Given the description of an element on the screen output the (x, y) to click on. 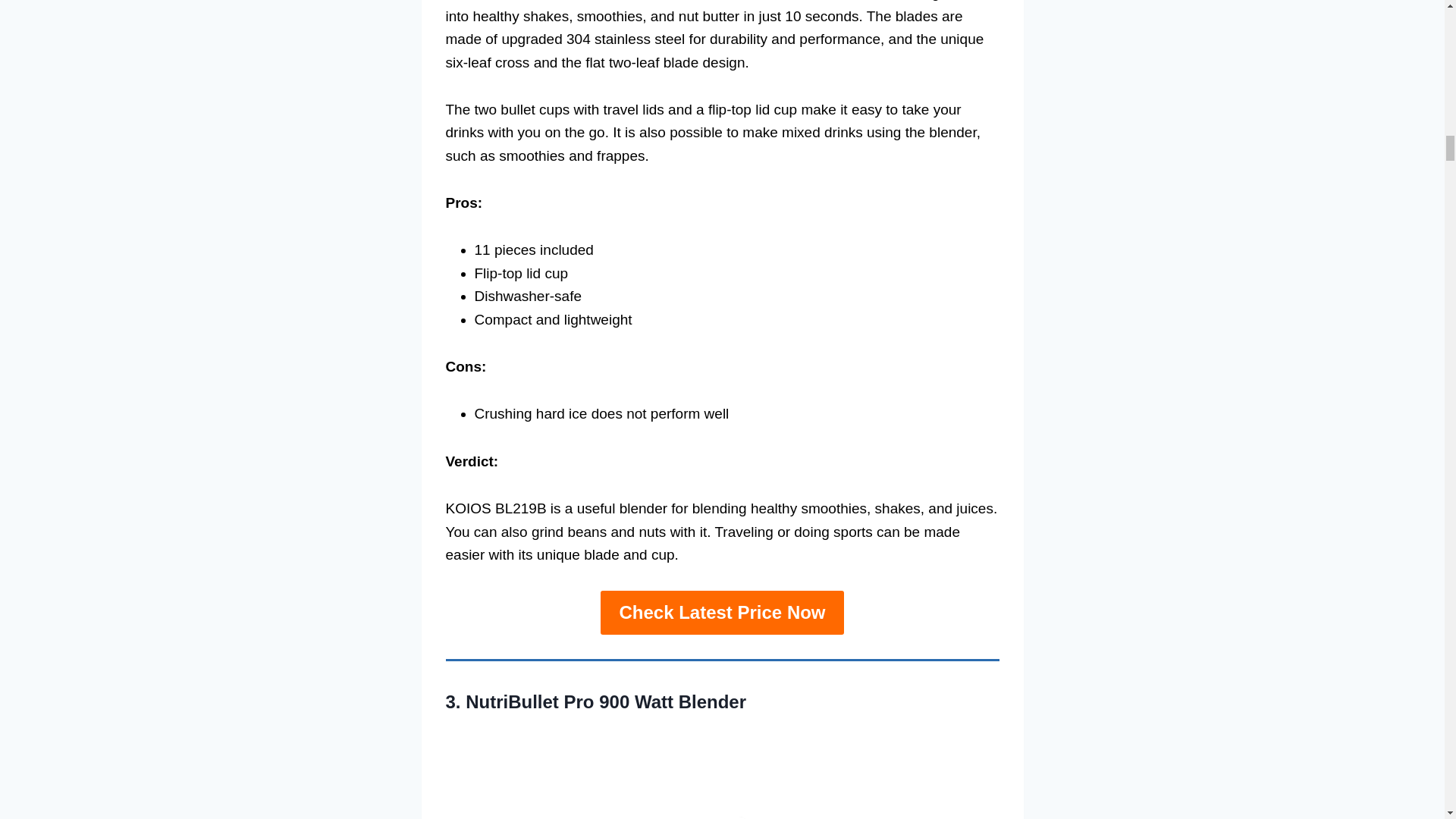
Check Latest Price Now (721, 612)
